Given the description of an element on the screen output the (x, y) to click on. 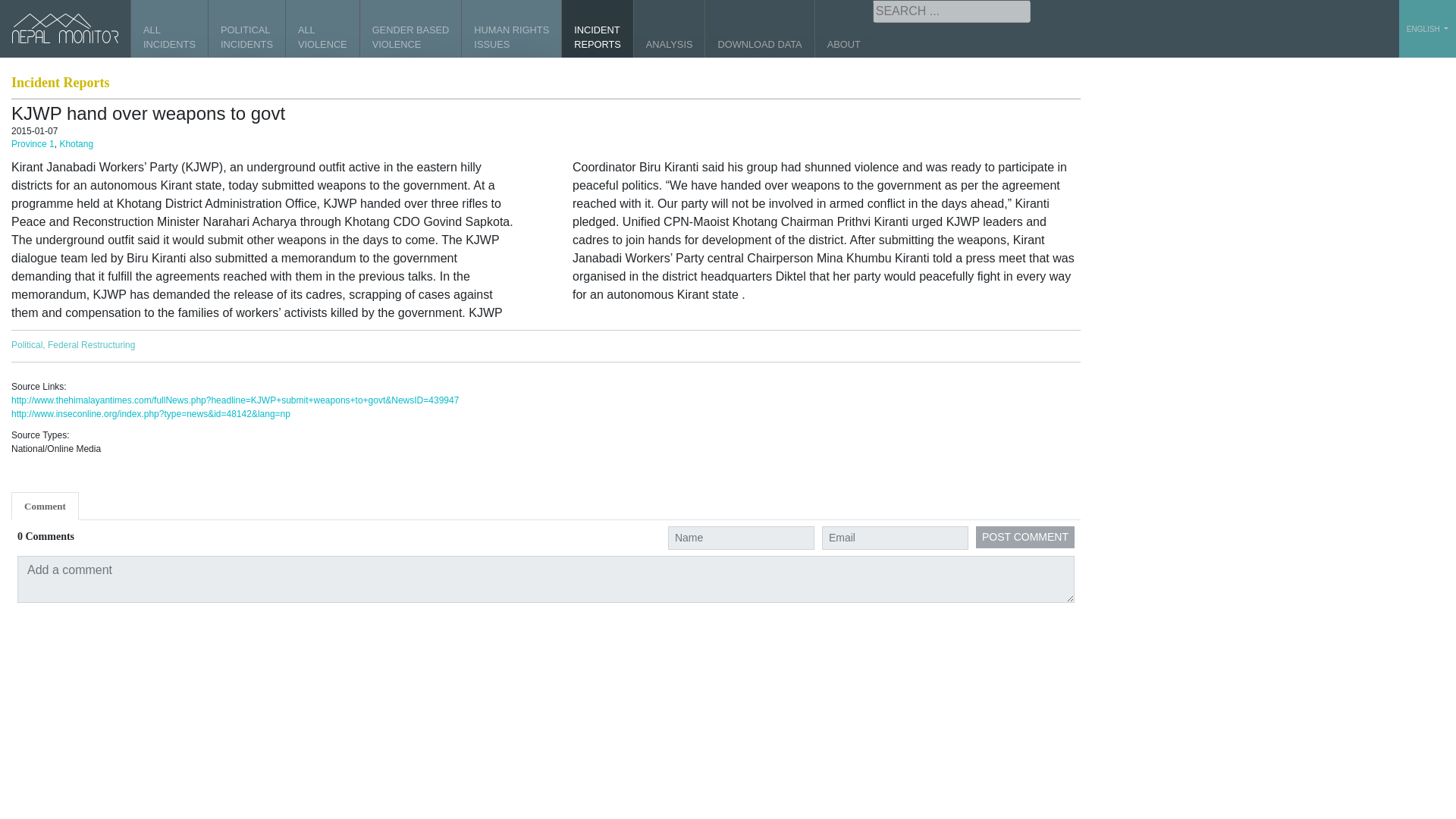
List of all incidents (596, 28)
Khotang (322, 28)
ABOUT (76, 143)
Downloads (842, 28)
Any incident of GBV or issues of concern to WHRDs (596, 28)
POST COMMENT (758, 28)
Province 1 (410, 28)
ANALYSIS (1024, 536)
DOWNLOAD DATA (33, 143)
Federal Restructuring (668, 28)
